Given the description of an element on the screen output the (x, y) to click on. 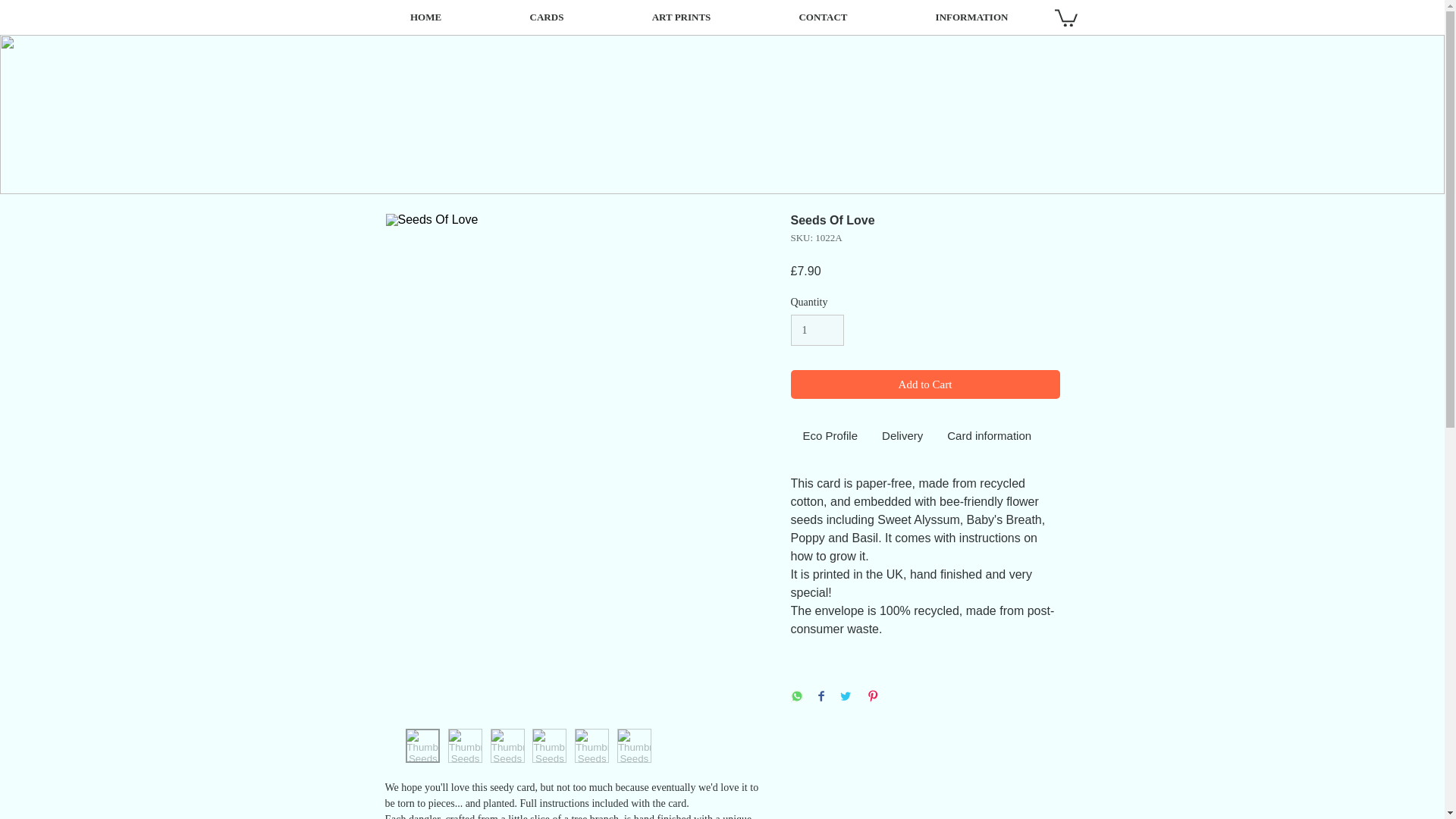
CARDS (545, 17)
Use right and left arrows to navigate between tabs (901, 436)
INFORMATION (971, 17)
1 (817, 329)
HOME (424, 17)
Add to Cart (924, 384)
Use right and left arrows to navigate between tabs (989, 436)
Use right and left arrows to navigate between tabs (829, 436)
CONTACT (823, 17)
ART PRINTS (681, 17)
